Given the description of an element on the screen output the (x, y) to click on. 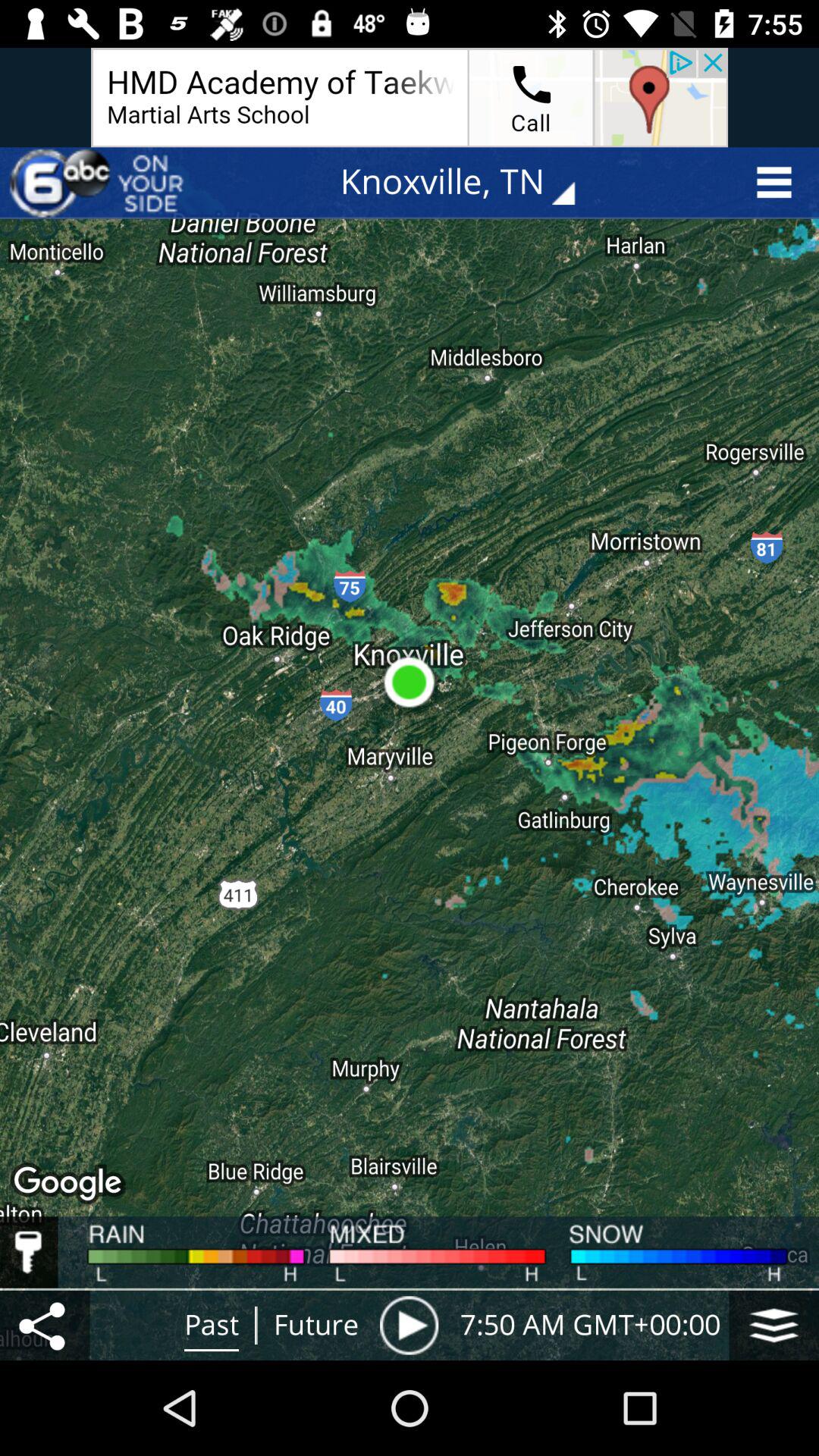
click the icon next to 7 50 am item (409, 1325)
